Given the description of an element on the screen output the (x, y) to click on. 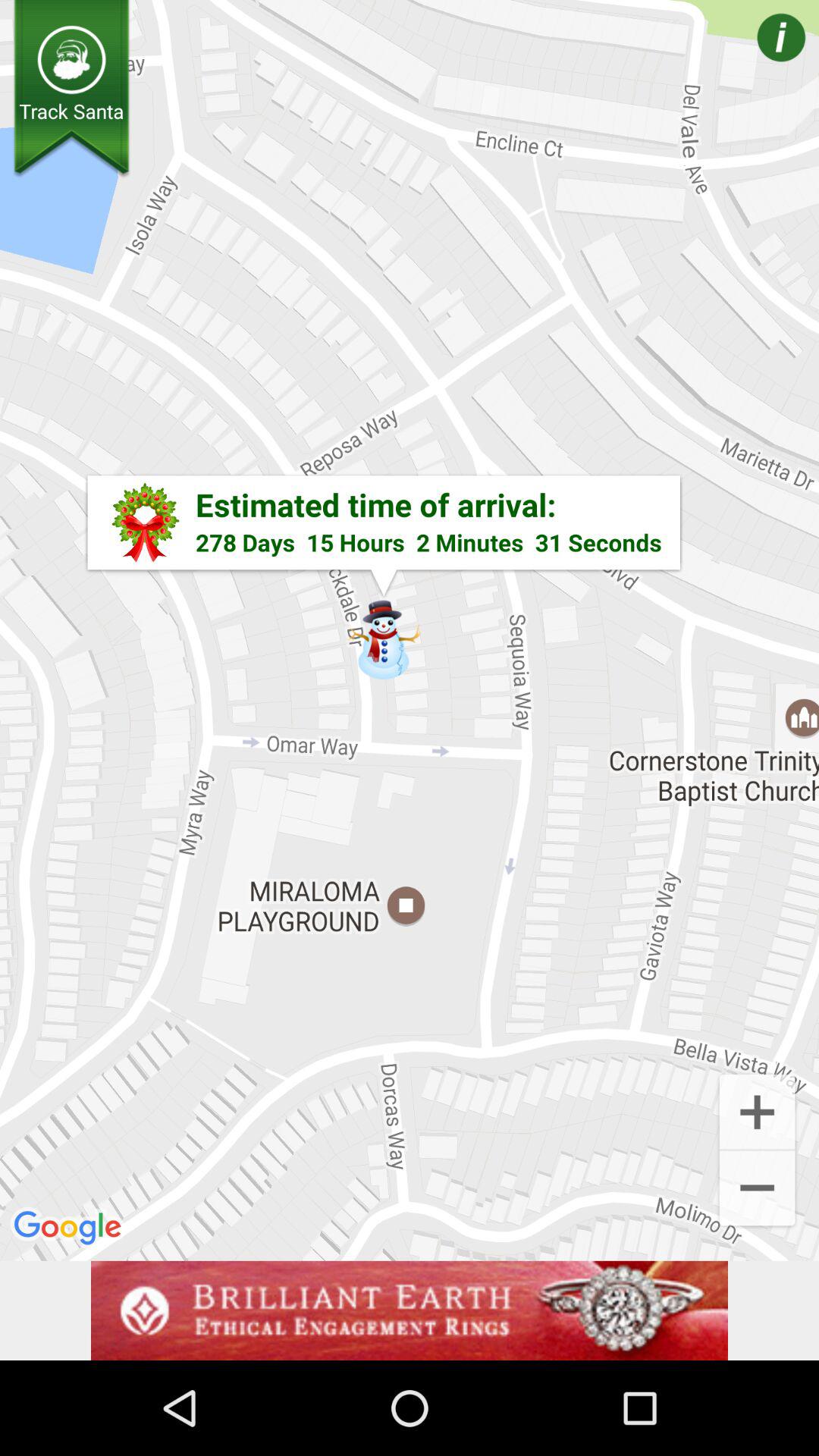
advertisement link (409, 1310)
